Given the description of an element on the screen output the (x, y) to click on. 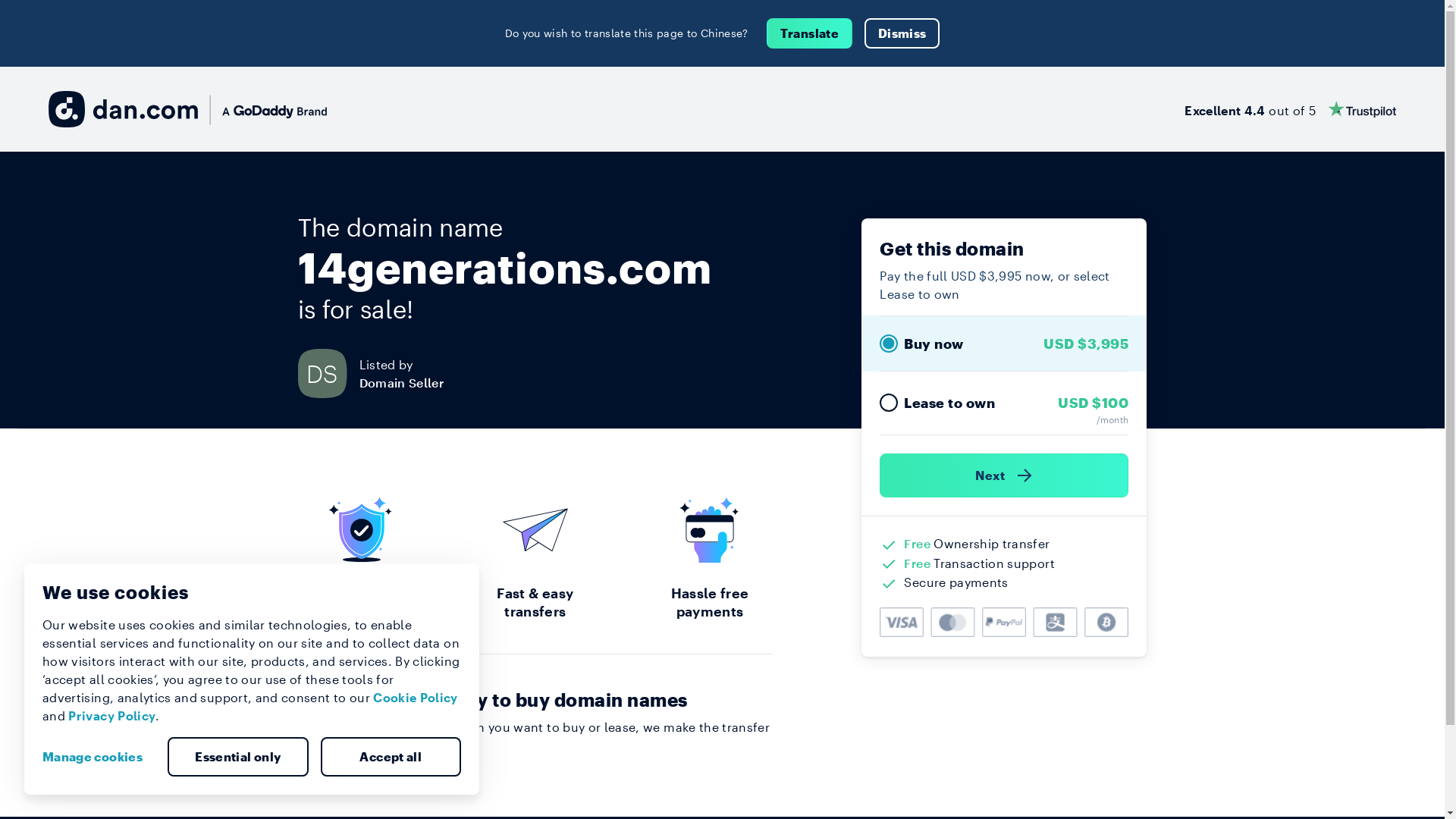
Accept all Element type: text (390, 756)
Privacy Policy Element type: text (111, 715)
Translate Element type: text (809, 33)
Dismiss Element type: text (901, 33)
Manage cookies Element type: text (98, 756)
Next
) Element type: text (1003, 475)
Excellent 4.4 out of 5 Element type: text (1290, 109)
Essential only Element type: text (237, 756)
Cookie Policy Element type: text (415, 697)
